Given the description of an element on the screen output the (x, y) to click on. 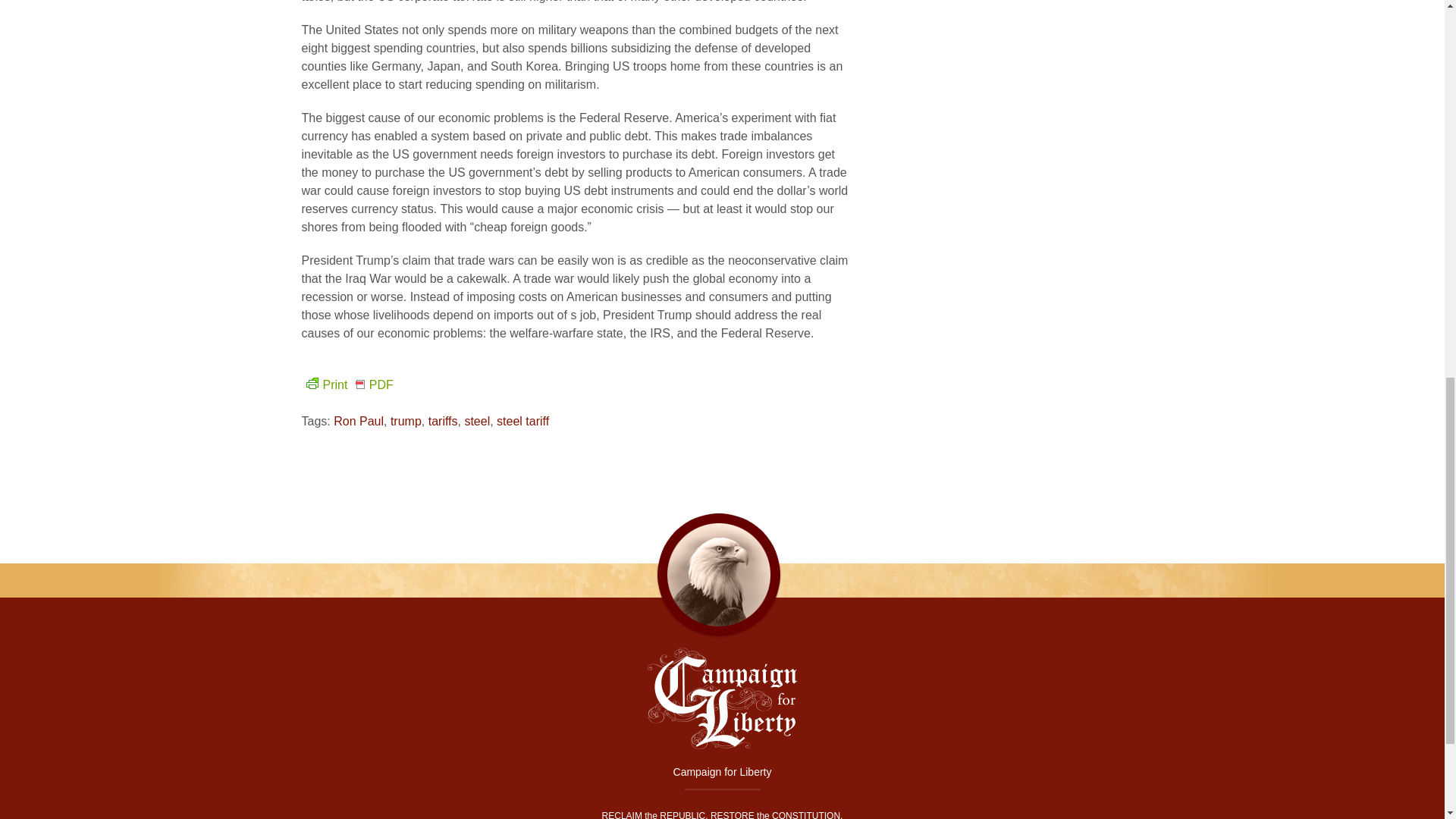
steel (476, 420)
Printer Friendly and PDF (347, 384)
trump (406, 420)
Print PDF (347, 384)
Ron Paul (358, 420)
tariffs (443, 420)
steel tariff (522, 420)
